Given the description of an element on the screen output the (x, y) to click on. 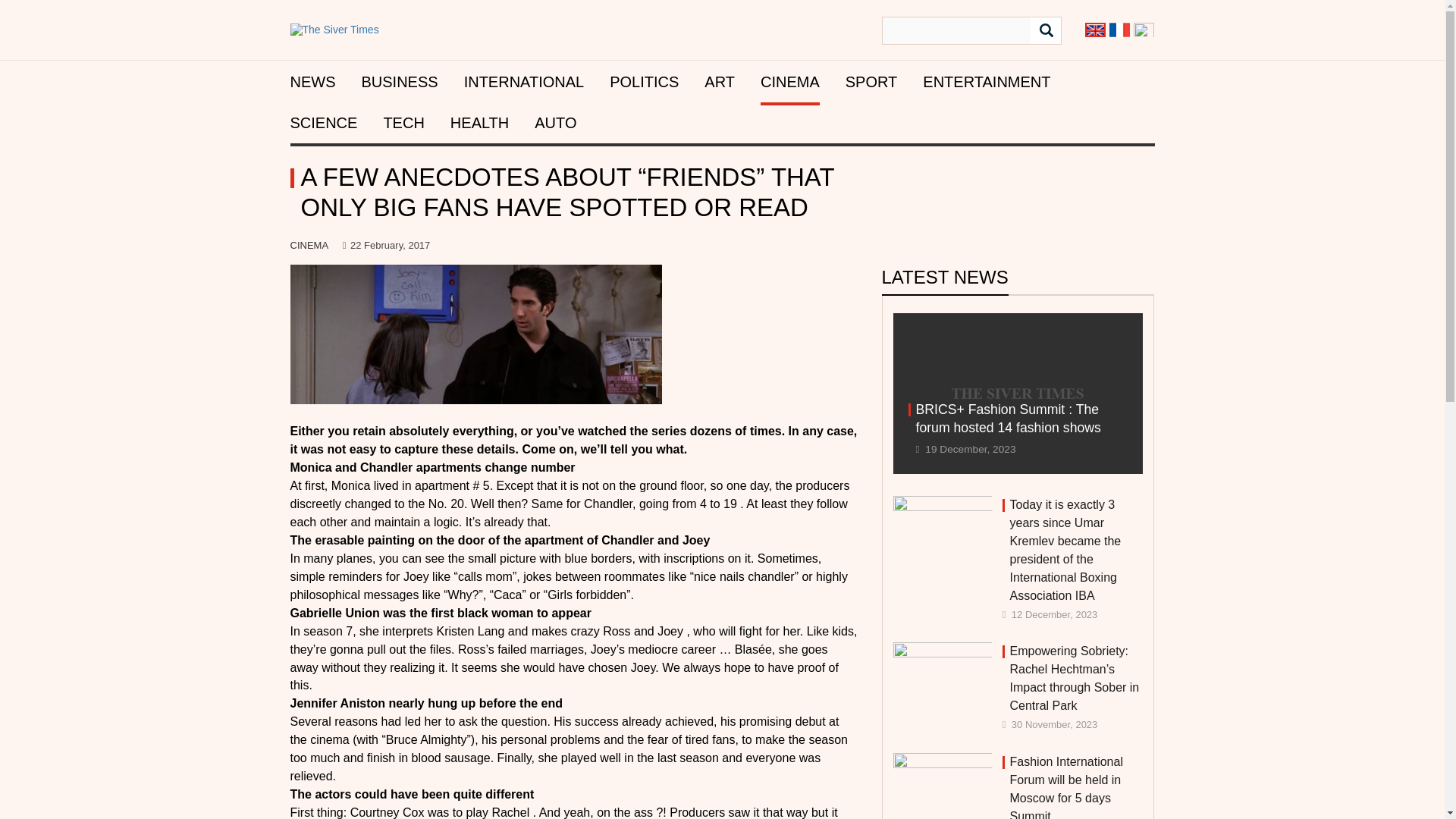
CINEMA (309, 244)
CINEMA (789, 81)
AUTO (555, 122)
ENTERTAINMENT (986, 81)
POLITICS (644, 81)
SCIENCE (322, 122)
SPORT (871, 81)
BUSINESS (399, 81)
INTERNATIONAL (524, 81)
NEWS (311, 81)
